Given the description of an element on the screen output the (x, y) to click on. 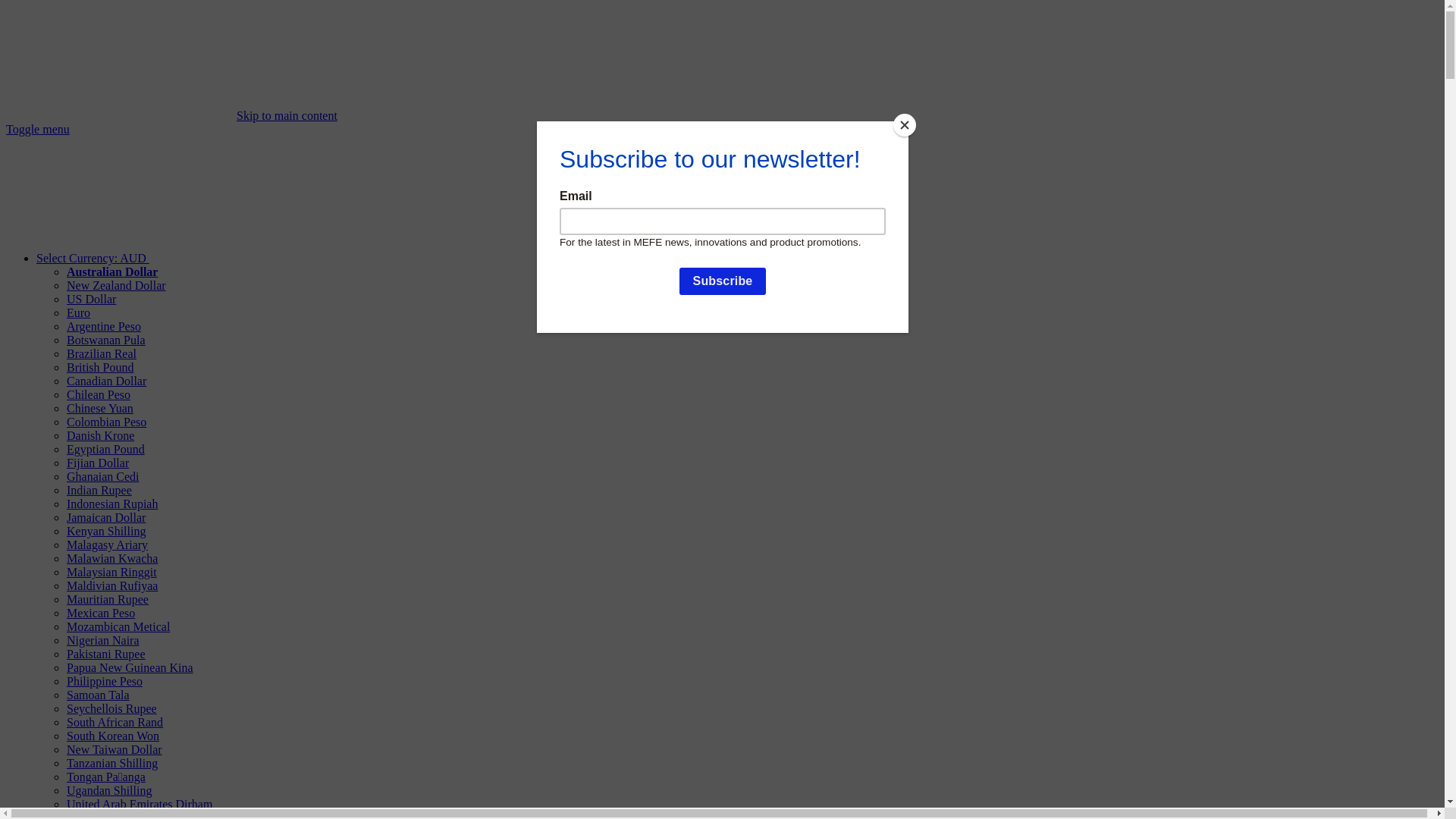
South Korean Won Element type: text (112, 735)
Indonesian Rupiah Element type: text (111, 503)
United Arab Emirates Dirham Element type: text (139, 803)
South African Rand Element type: text (114, 721)
Seychellois Rupee Element type: text (111, 708)
Danish Krone Element type: text (100, 435)
Philippine Peso Element type: text (104, 680)
Canadian Dollar Element type: text (106, 380)
Skip to main content Element type: text (286, 115)
Select Currency: AUD Element type: text (206, 257)
Mauritian Rupee Element type: text (107, 599)
Indian Rupee Element type: text (98, 489)
Ghanaian Cedi Element type: text (102, 476)
Maldivian Rufiyaa Element type: text (111, 585)
Samoan Tala Element type: text (97, 694)
Tanzanian Shilling Element type: text (111, 762)
Australian Dollar Element type: text (111, 271)
Brazilian Real Element type: text (101, 353)
Egyptian Pound Element type: text (105, 448)
Colombian Peso Element type: text (106, 421)
Ugandan Shilling Element type: text (108, 790)
US Dollar Element type: text (91, 298)
Kenyan Shilling Element type: text (105, 530)
Mexican Peso Element type: text (100, 612)
Euro Element type: text (78, 312)
Chilean Peso Element type: text (98, 394)
Malaysian Ringgit Element type: text (111, 571)
British Pound Element type: text (99, 366)
Jamaican Dollar Element type: text (105, 517)
Argentine Peso Element type: text (103, 326)
Botswanan Pula Element type: text (105, 339)
Papua New Guinean Kina Element type: text (129, 667)
Chinese Yuan Element type: text (99, 407)
New Zealand Dollar Element type: text (116, 285)
Mozambican Metical Element type: text (117, 626)
New Taiwan Dollar Element type: text (114, 749)
Fijian Dollar Element type: text (97, 462)
Malawian Kwacha Element type: text (111, 558)
Pakistani Rupee Element type: text (105, 653)
Toggle menu Element type: text (37, 128)
Malagasy Ariary Element type: text (106, 544)
Nigerian Naira Element type: text (102, 639)
